Given the description of an element on the screen output the (x, y) to click on. 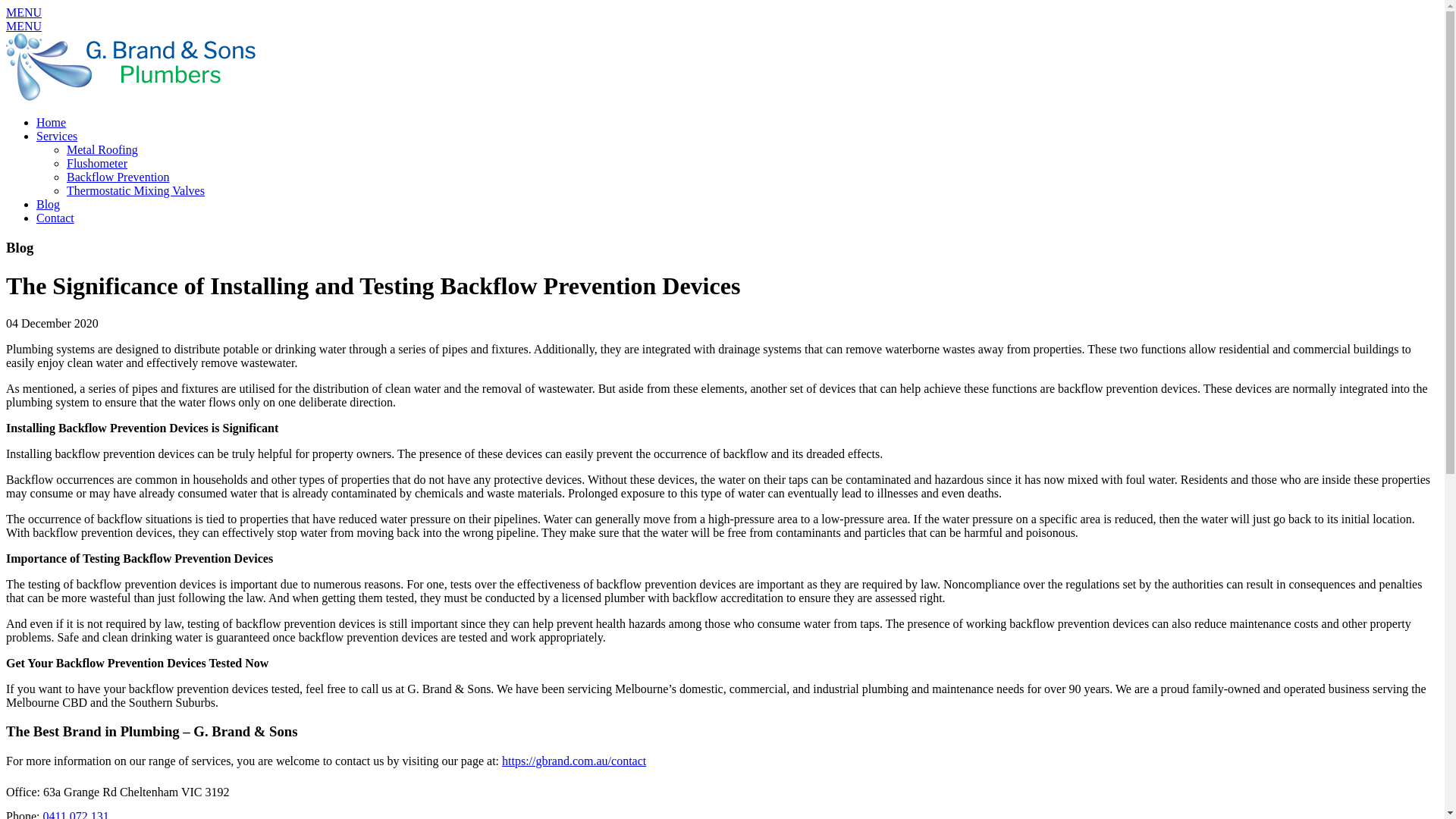
Contact Element type: text (55, 217)
Flushometer Element type: text (96, 162)
Metal Roofing Element type: text (102, 149)
Backflow Prevention Element type: text (117, 176)
Home Element type: text (50, 122)
Thermostatic Mixing Valves Element type: text (135, 190)
https://gbrand.com.au/contact Element type: text (574, 760)
Services Element type: text (56, 135)
Blog Element type: text (47, 203)
MENU Element type: text (23, 12)
MENU Element type: text (23, 25)
